Given the description of an element on the screen output the (x, y) to click on. 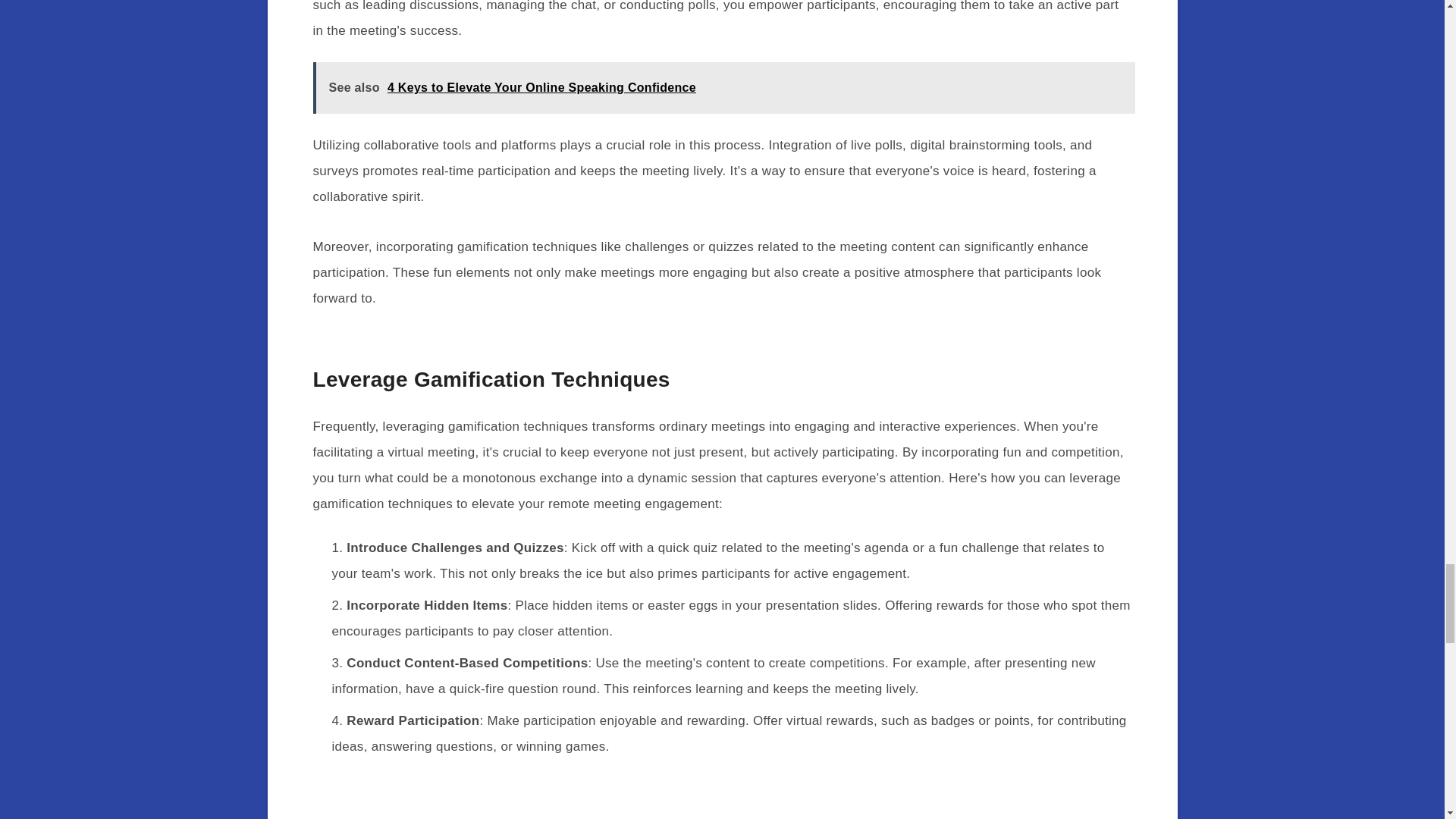
See also  4 Keys to Elevate Your Online Speaking Confidence (723, 87)
